Given the description of an element on the screen output the (x, y) to click on. 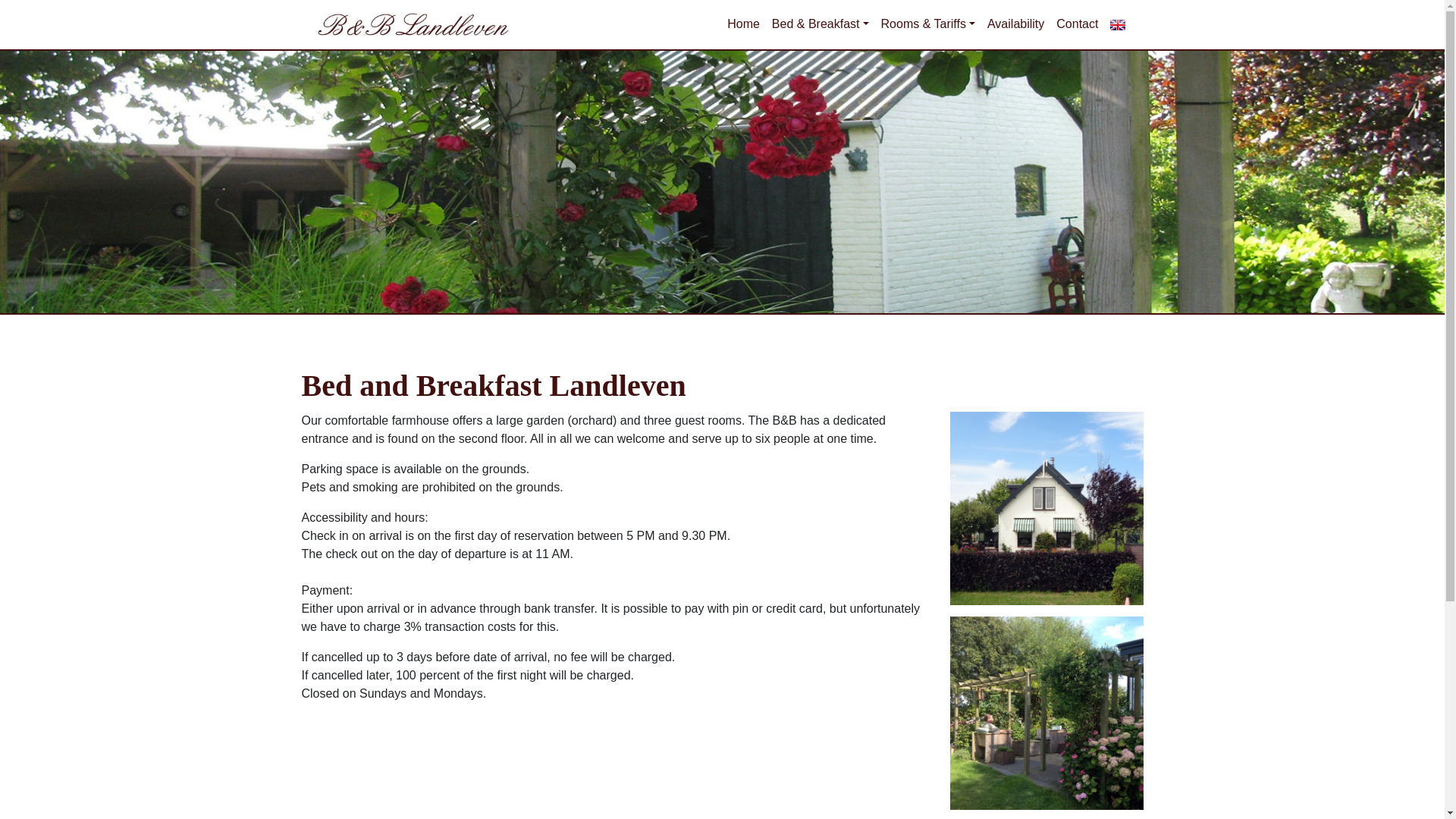
Availability (1015, 24)
Contact (1076, 24)
Availability (1015, 24)
Contact (1076, 24)
Home (742, 24)
Home (742, 24)
